Given the description of an element on the screen output the (x, y) to click on. 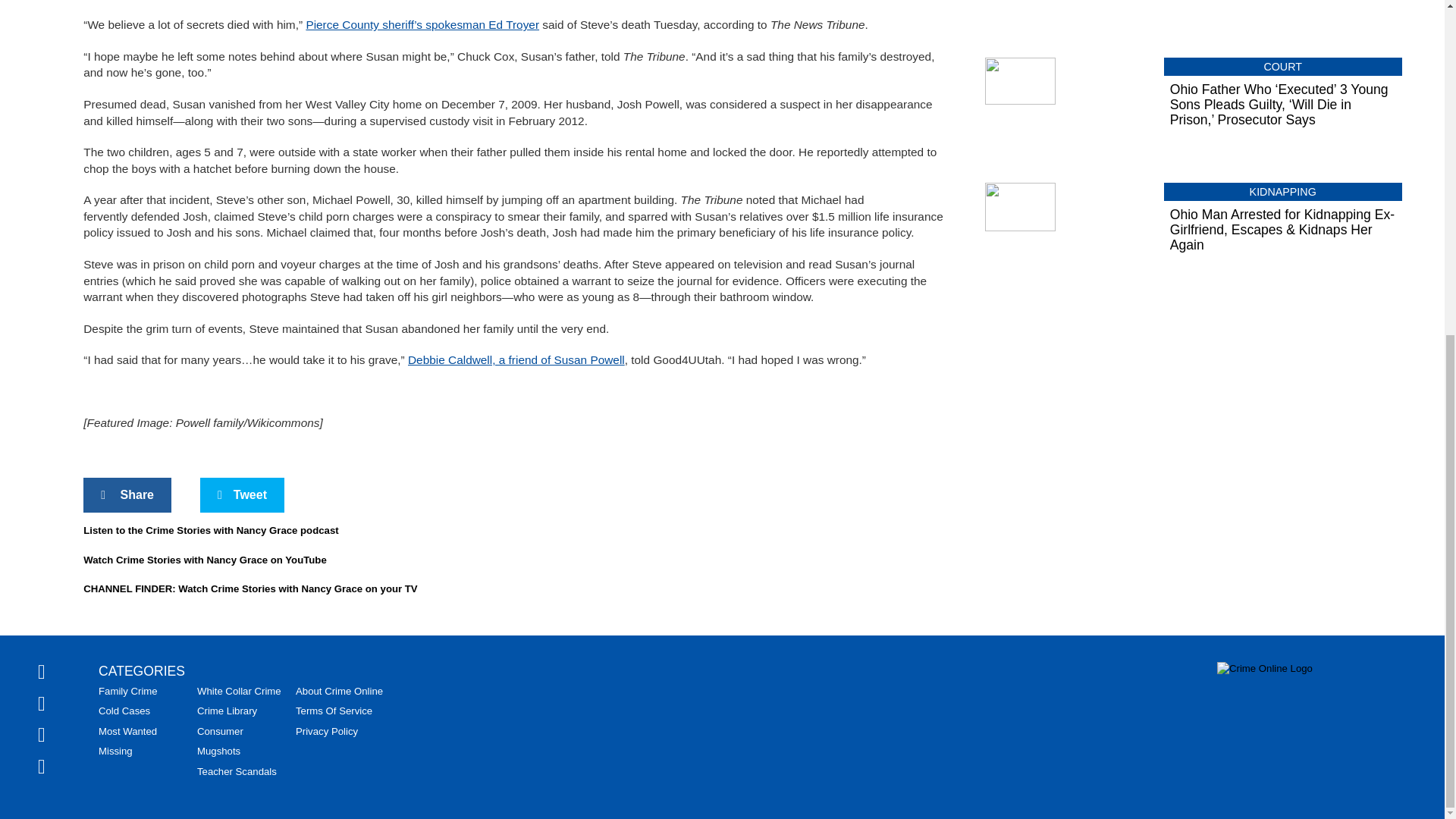
Listen to the Crime Stories with Nancy Grace podcast (209, 530)
Watch Crime Stories with Nancy Grace on YouTube (204, 559)
Debbie Caldwell, a friend of Susan Powell (515, 359)
Tweet (241, 494)
Share (126, 494)
